Given the description of an element on the screen output the (x, y) to click on. 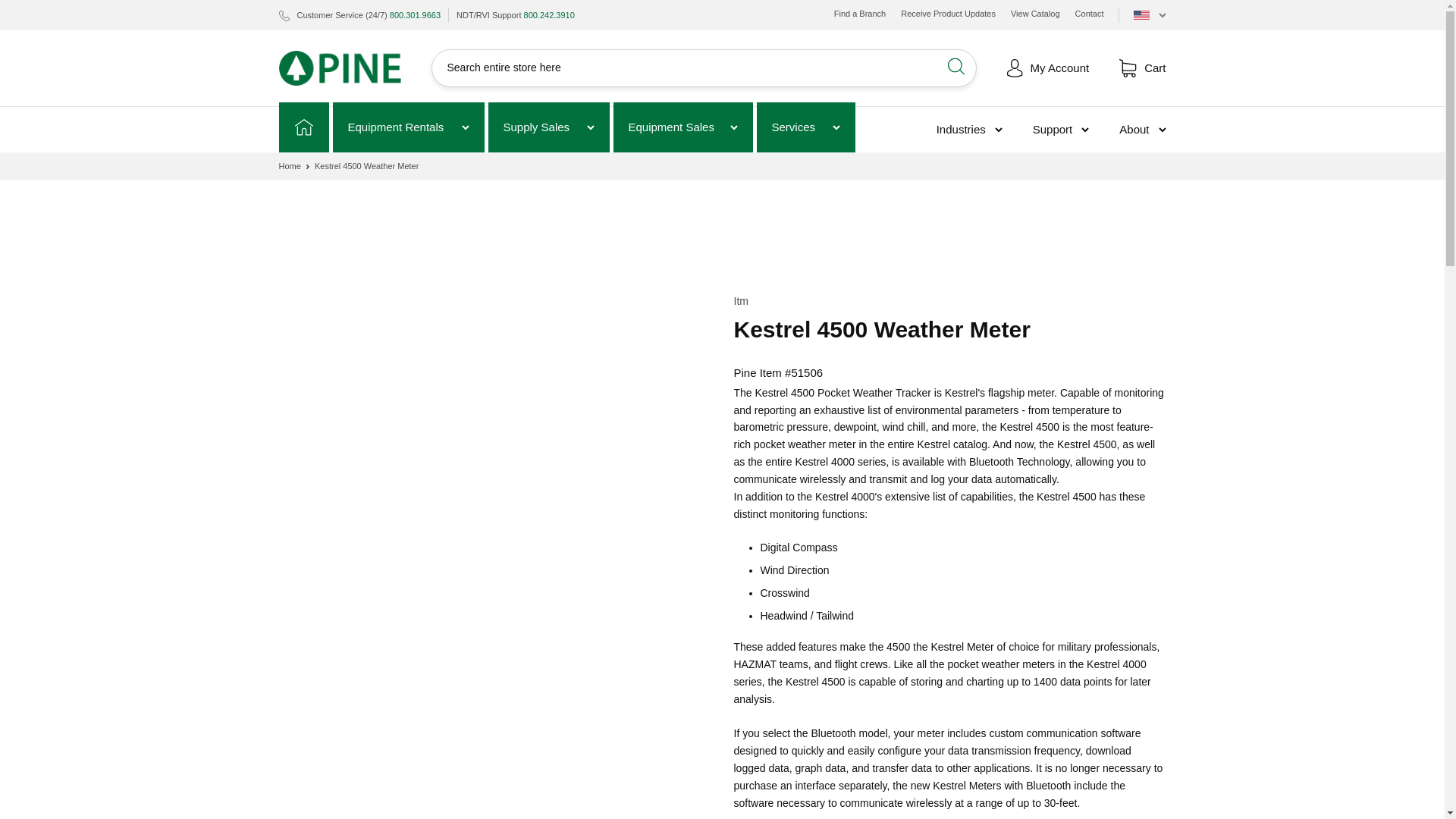
800.242.3910 (549, 14)
Pine Environmental (340, 67)
800.301.9663 (415, 14)
Home (304, 127)
Find a Branch (859, 13)
Cart (1142, 67)
Contact (1089, 13)
Submit (957, 68)
US (1149, 15)
View Catalog (1034, 13)
